Given the description of an element on the screen output the (x, y) to click on. 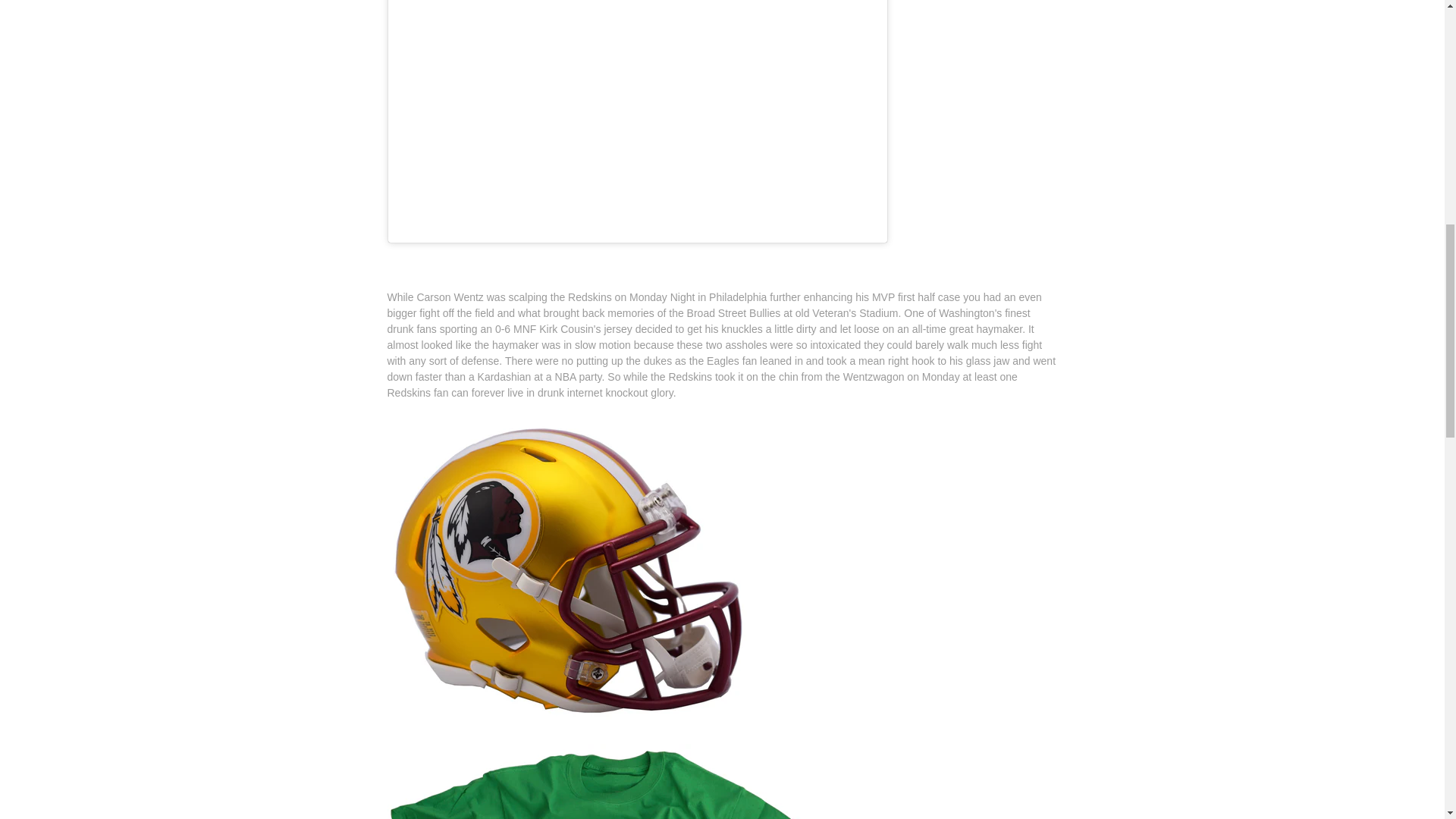
Shop for Wentzylvania T-shirt (614, 751)
SHOP for Washinton Redskins Blaze Helmet (569, 423)
